Given the description of an element on the screen output the (x, y) to click on. 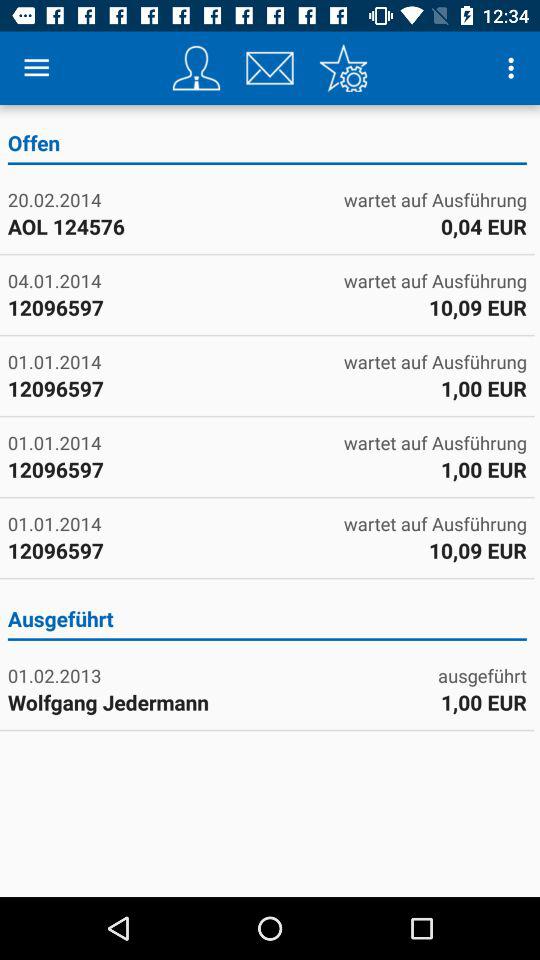
click icon above offen (513, 67)
